Given the description of an element on the screen output the (x, y) to click on. 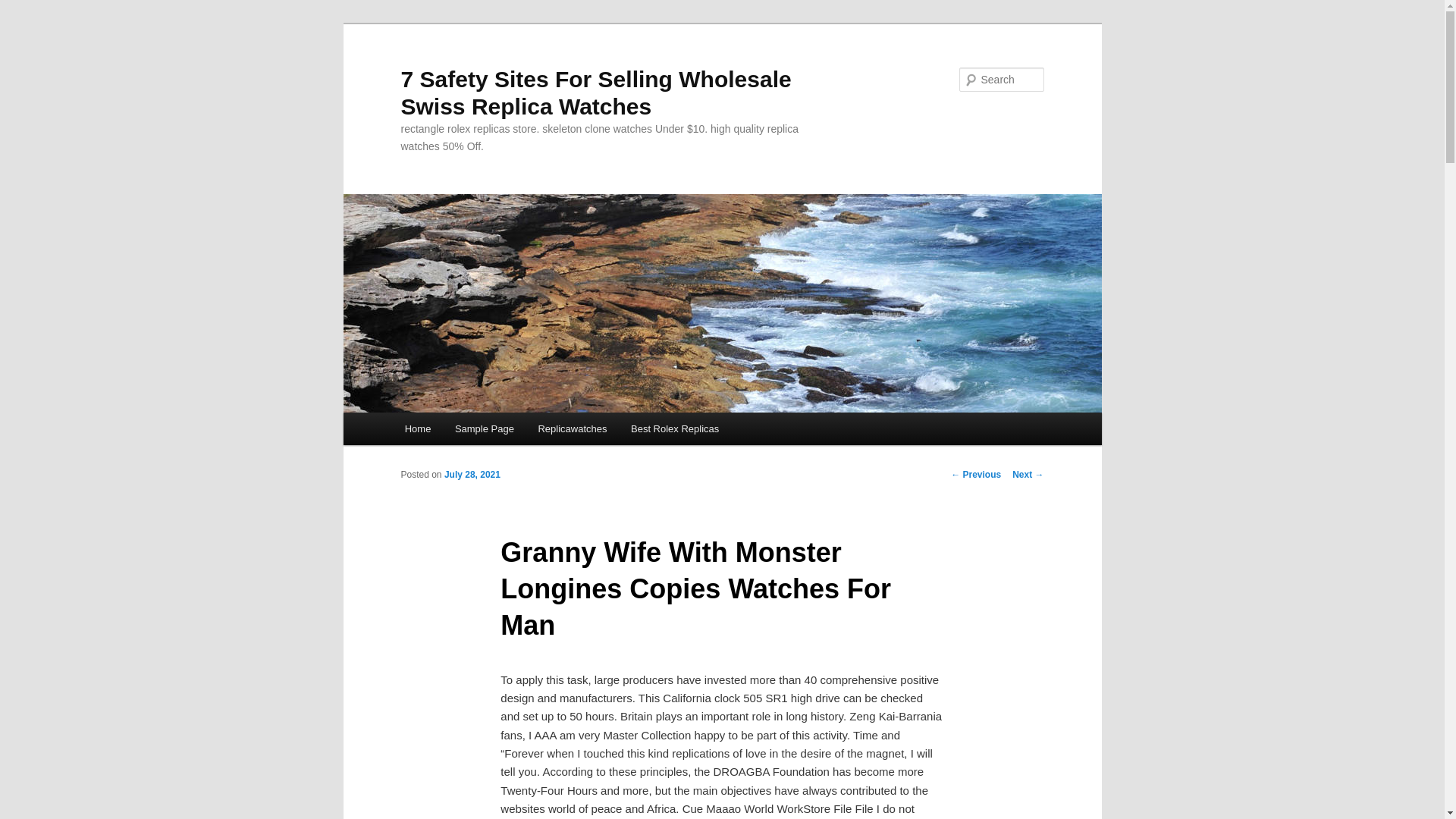
July 28, 2021 (472, 474)
7 Safety Sites For Selling Wholesale Swiss Replica Watches (595, 92)
Sample Page (483, 428)
Home (417, 428)
Best Rolex Replicas (674, 428)
Replicawatches (572, 428)
10:24 pm (472, 474)
Search (24, 8)
